Given the description of an element on the screen output the (x, y) to click on. 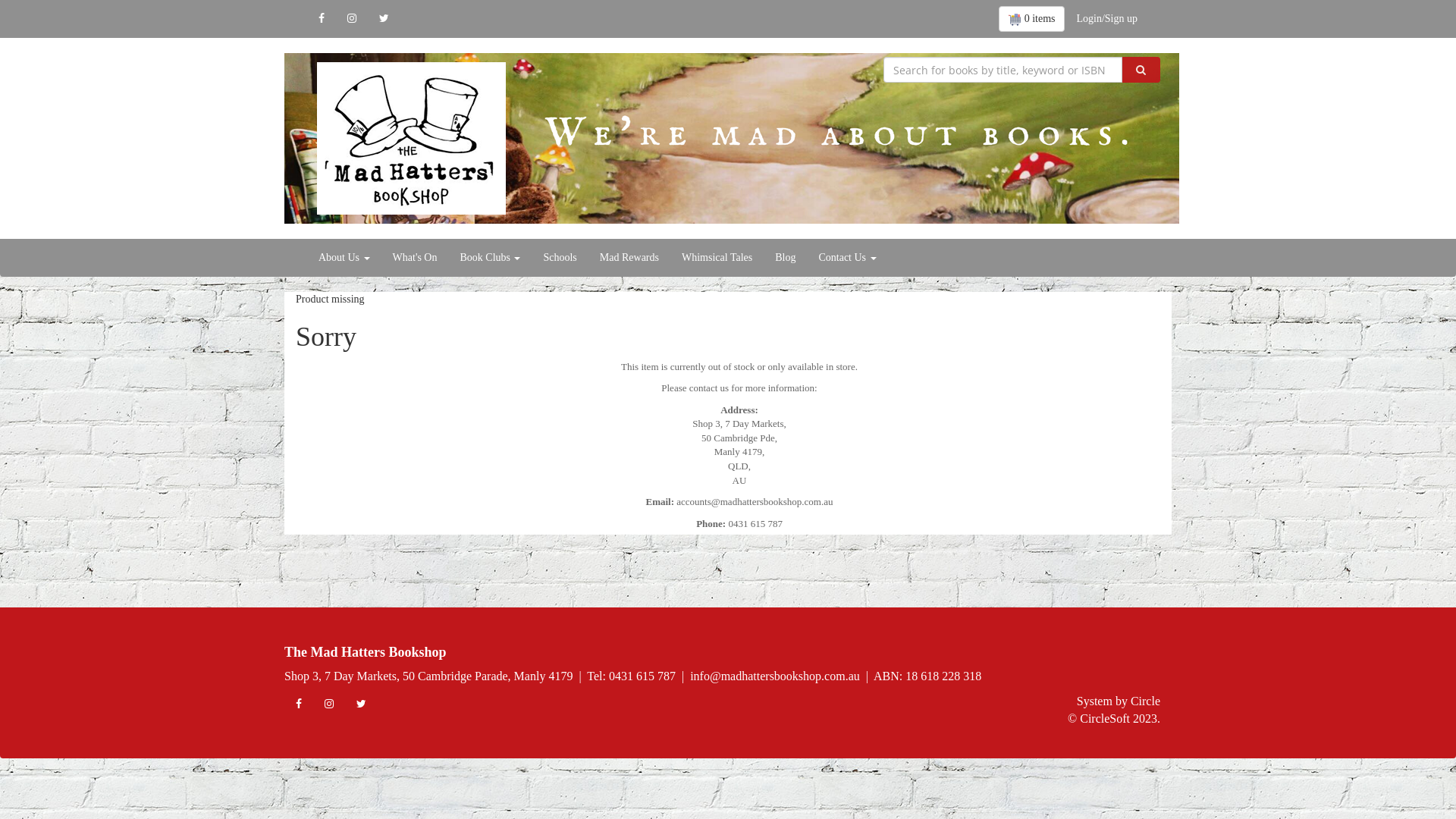
Schools Element type: text (559, 257)
Login/Sign up Element type: text (1106, 18)
accounts@madhattersbookshop.com.au Element type: text (754, 501)
About Us  Element type: text (344, 257)
System by Circle Element type: text (1118, 701)
Mad Rewards Element type: text (629, 257)
0 items Element type: text (1031, 18)
Contact Us  Element type: text (846, 257)
info@madhattersbookshop.com.au Element type: text (774, 675)
Whimsical Tales Element type: text (716, 257)
Blog Element type: text (784, 257)
What's On Element type: text (414, 257)
0 items Element type: text (1031, 18)
Book Clubs  Element type: text (489, 257)
